Given the description of an element on the screen output the (x, y) to click on. 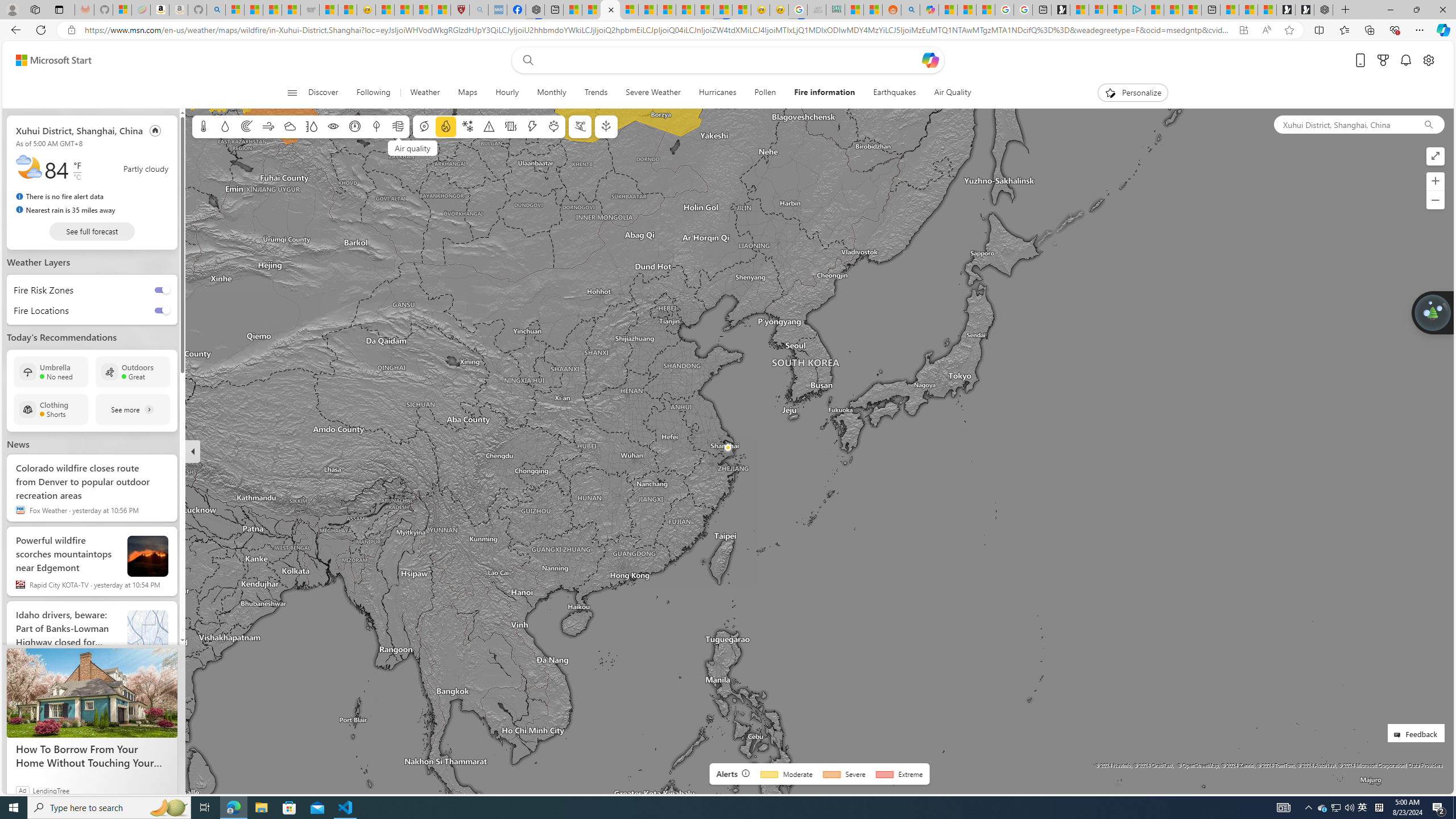
Data Providers (1424, 765)
Earthquake (510, 126)
Maps (467, 92)
Temperature (203, 126)
Pollen (765, 92)
Clothing Shorts (50, 409)
Nearest rain is 35 miles away (65, 209)
Powerful wildfire scorches mountaintops near Edgemont (148, 555)
